Given the description of an element on the screen output the (x, y) to click on. 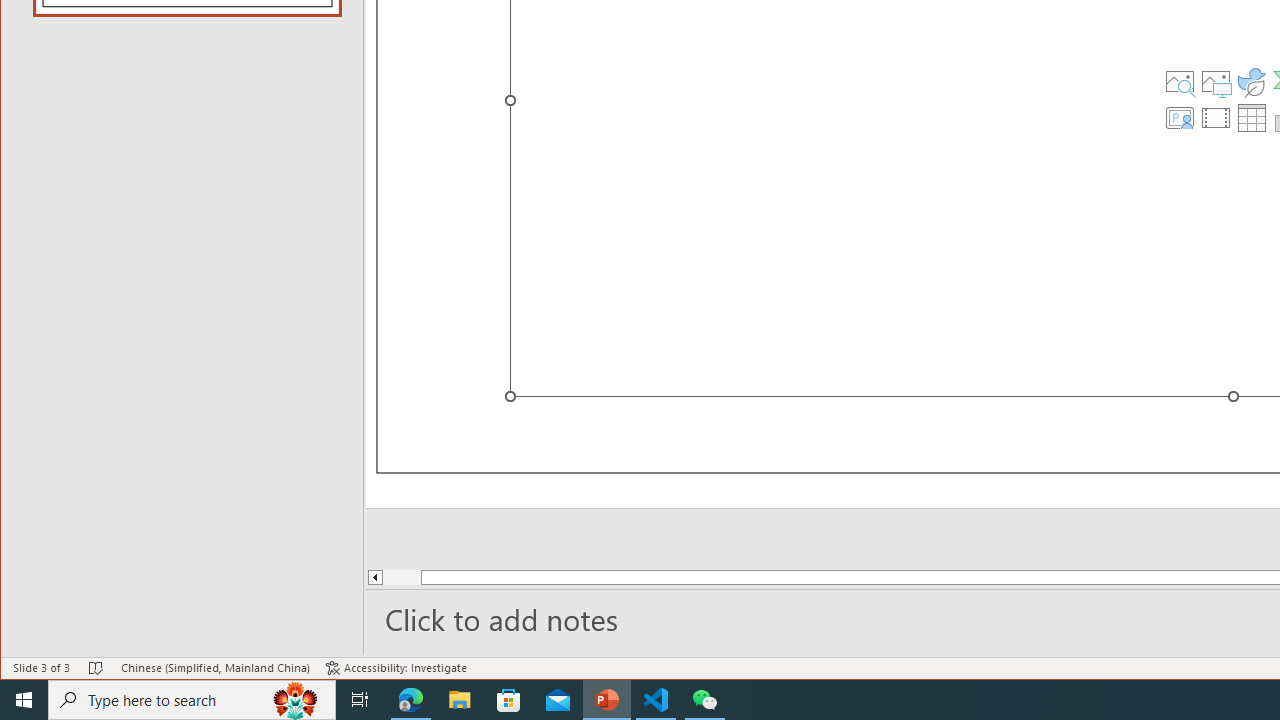
Insert an Icon (1252, 81)
Stock Images (1179, 81)
Insert Cameo (1179, 117)
Insert Table (1252, 117)
